Given the description of an element on the screen output the (x, y) to click on. 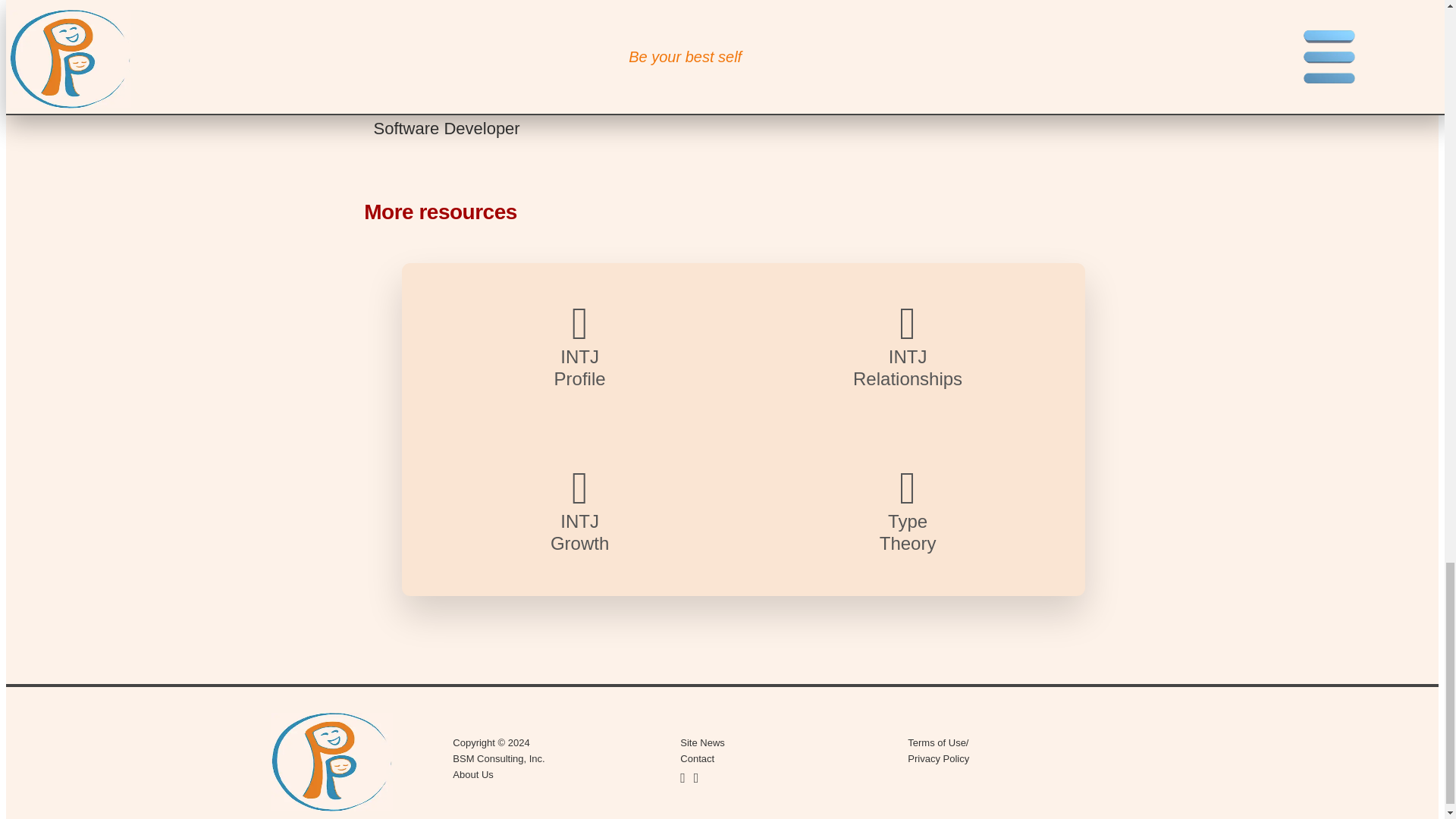
Site News (579, 511)
About Us (579, 347)
Contact (908, 511)
